Given the description of an element on the screen output the (x, y) to click on. 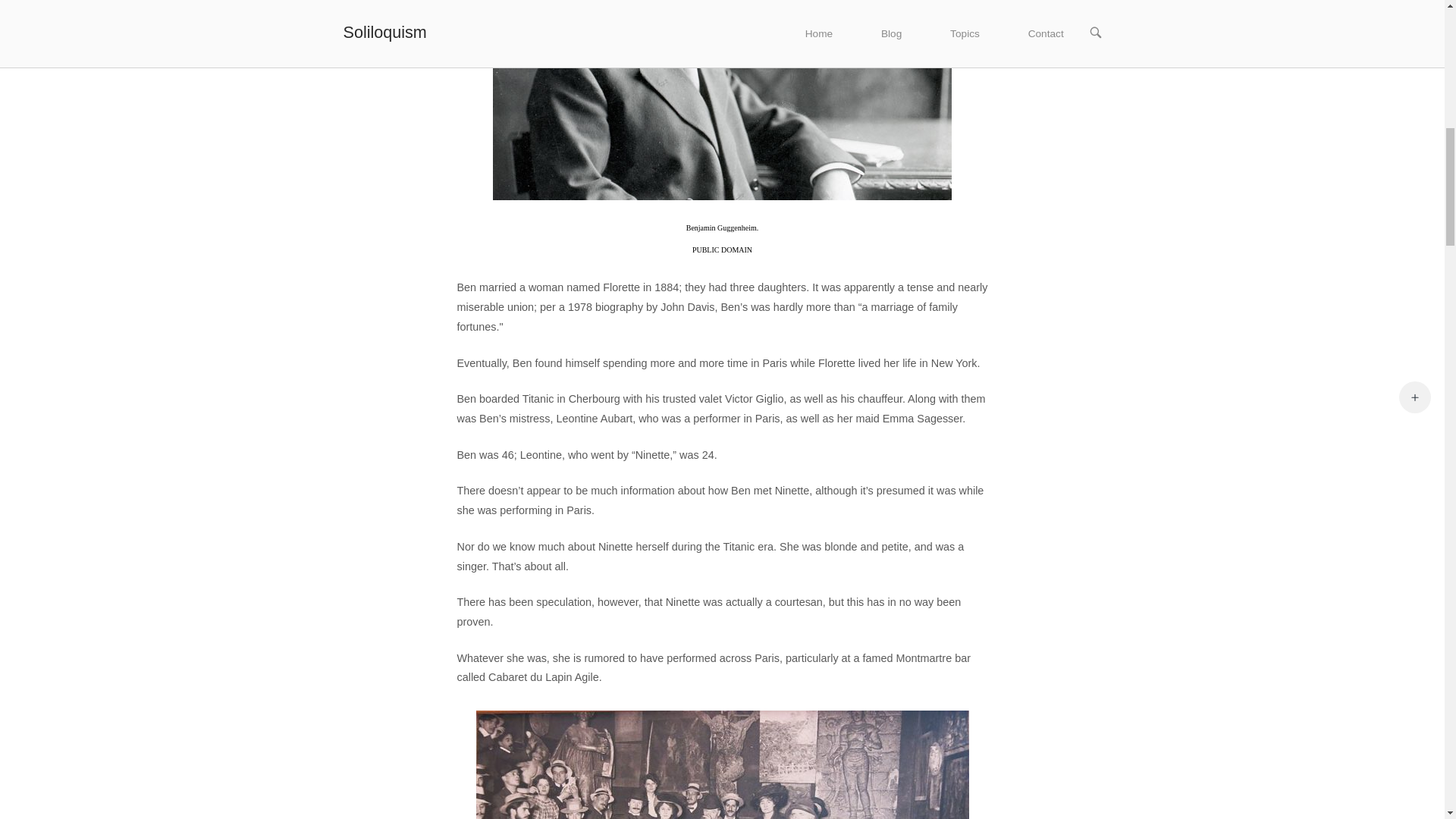
PUBLIC DOMAIN (722, 249)
